Given the description of an element on the screen output the (x, y) to click on. 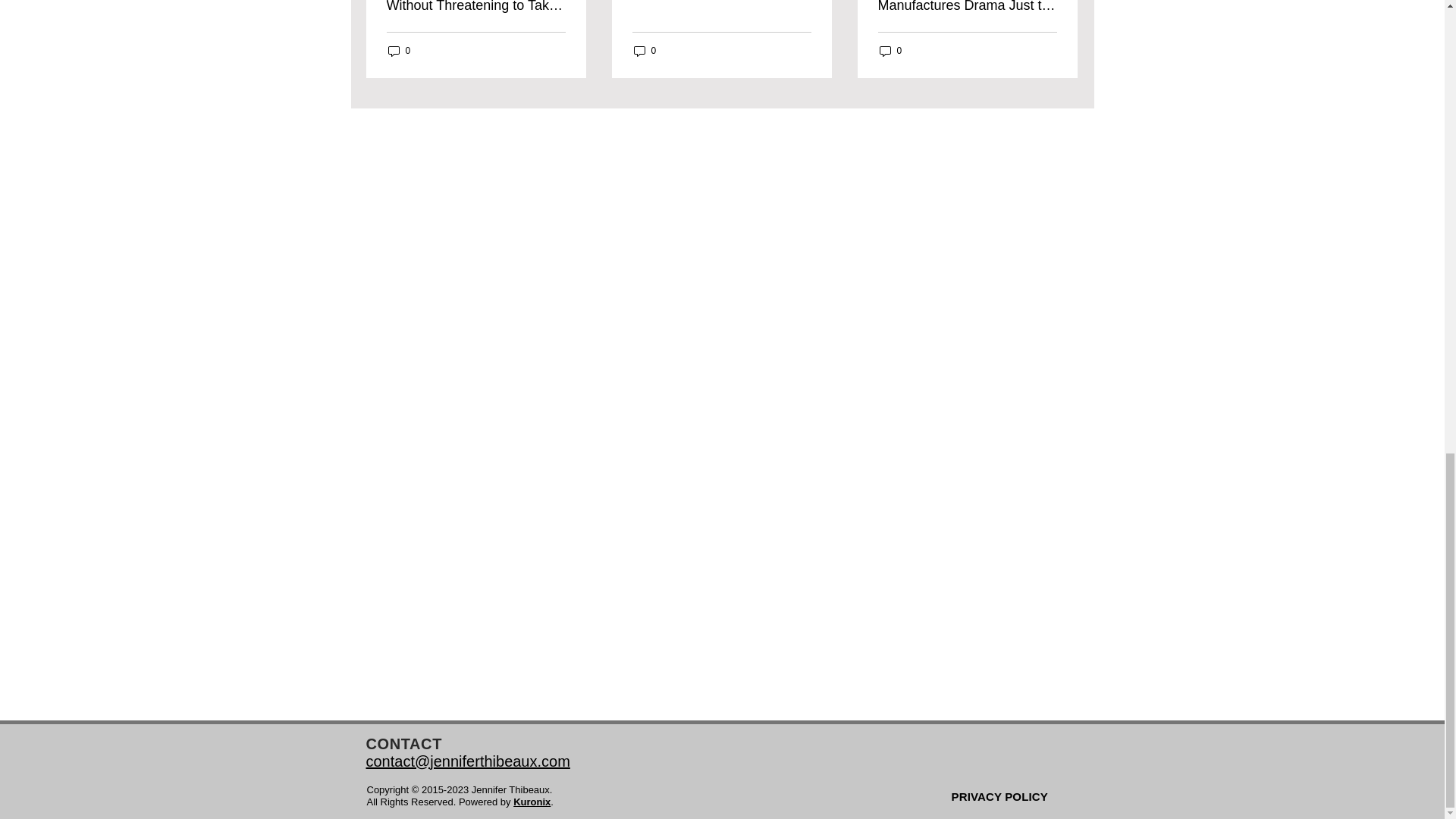
0 (644, 51)
0 (399, 51)
